Given the description of an element on the screen output the (x, y) to click on. 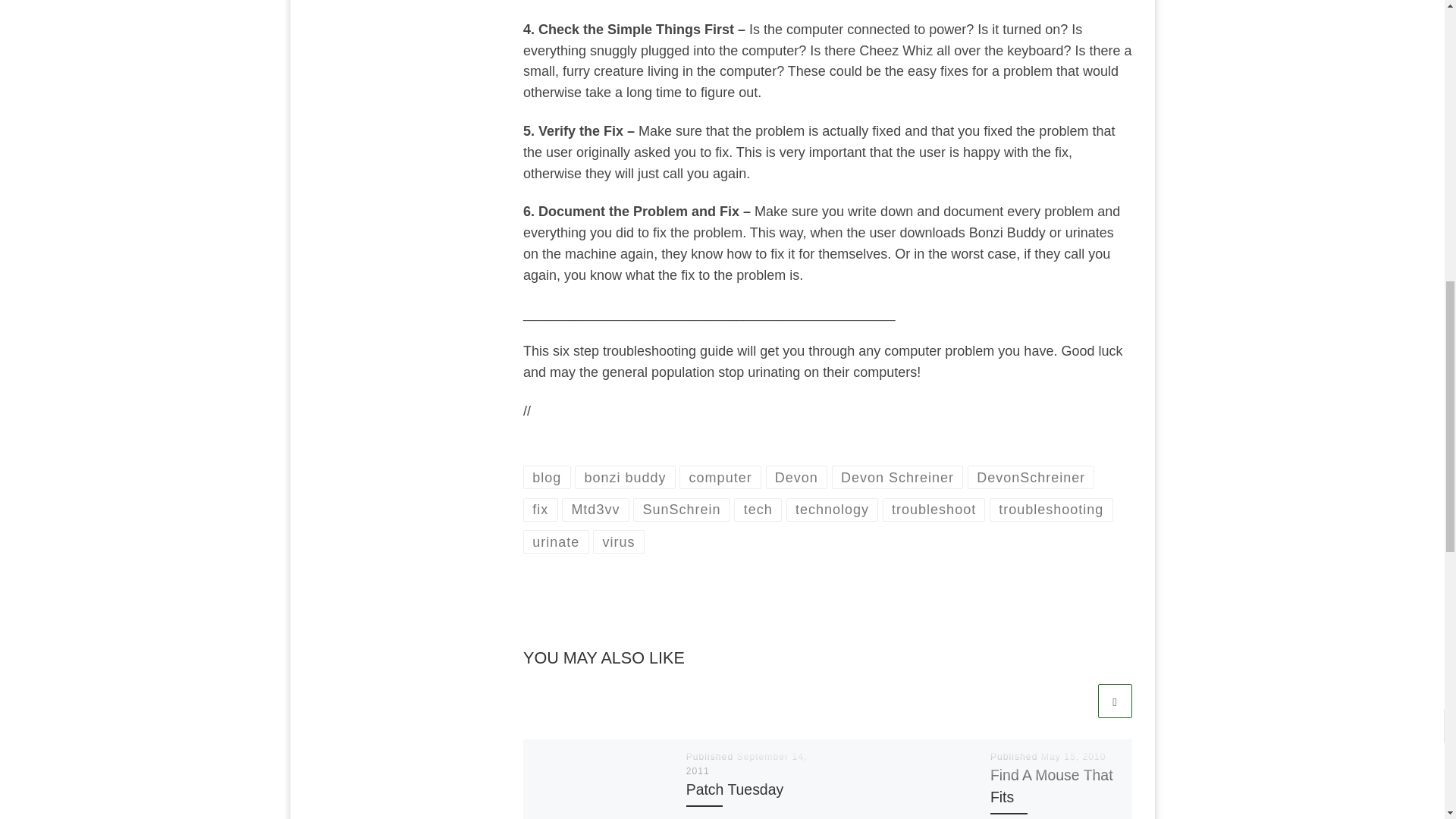
View all posts in Mtd3vv (595, 509)
View all posts in blog (546, 477)
View all posts in fix (539, 509)
View all posts in bonzi buddy (625, 477)
View all posts in DevonSchreiner (1031, 477)
View all posts in Devon Schreiner (897, 477)
View all posts in Devon (796, 477)
View all posts in computer (720, 477)
